Given the description of an element on the screen output the (x, y) to click on. 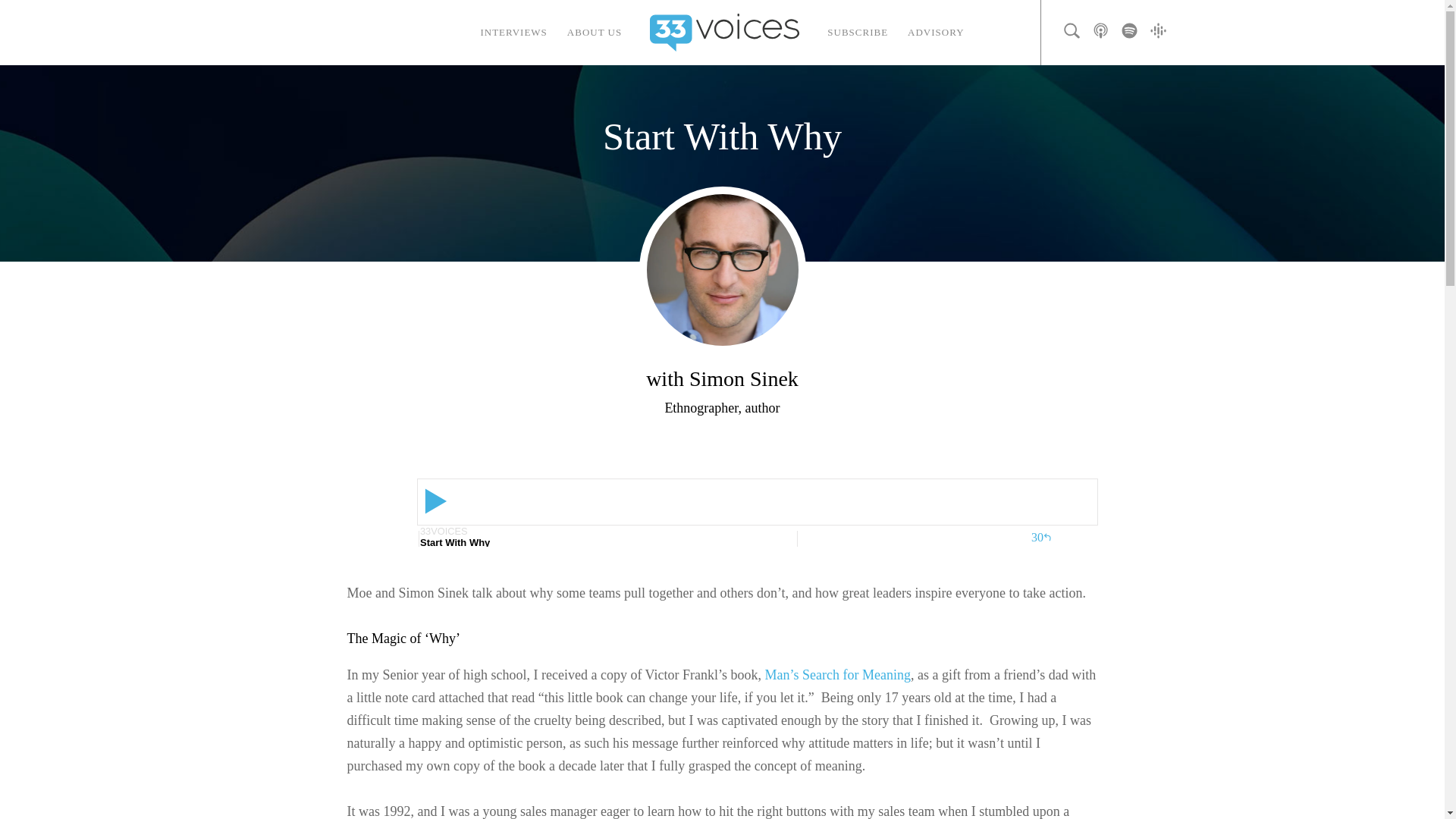
ABOUT US (594, 32)
Simon Sinek (721, 269)
ADVISORY (936, 32)
INTERVIEWS (513, 32)
SUBSCRIBE (857, 32)
